Given the description of an element on the screen output the (x, y) to click on. 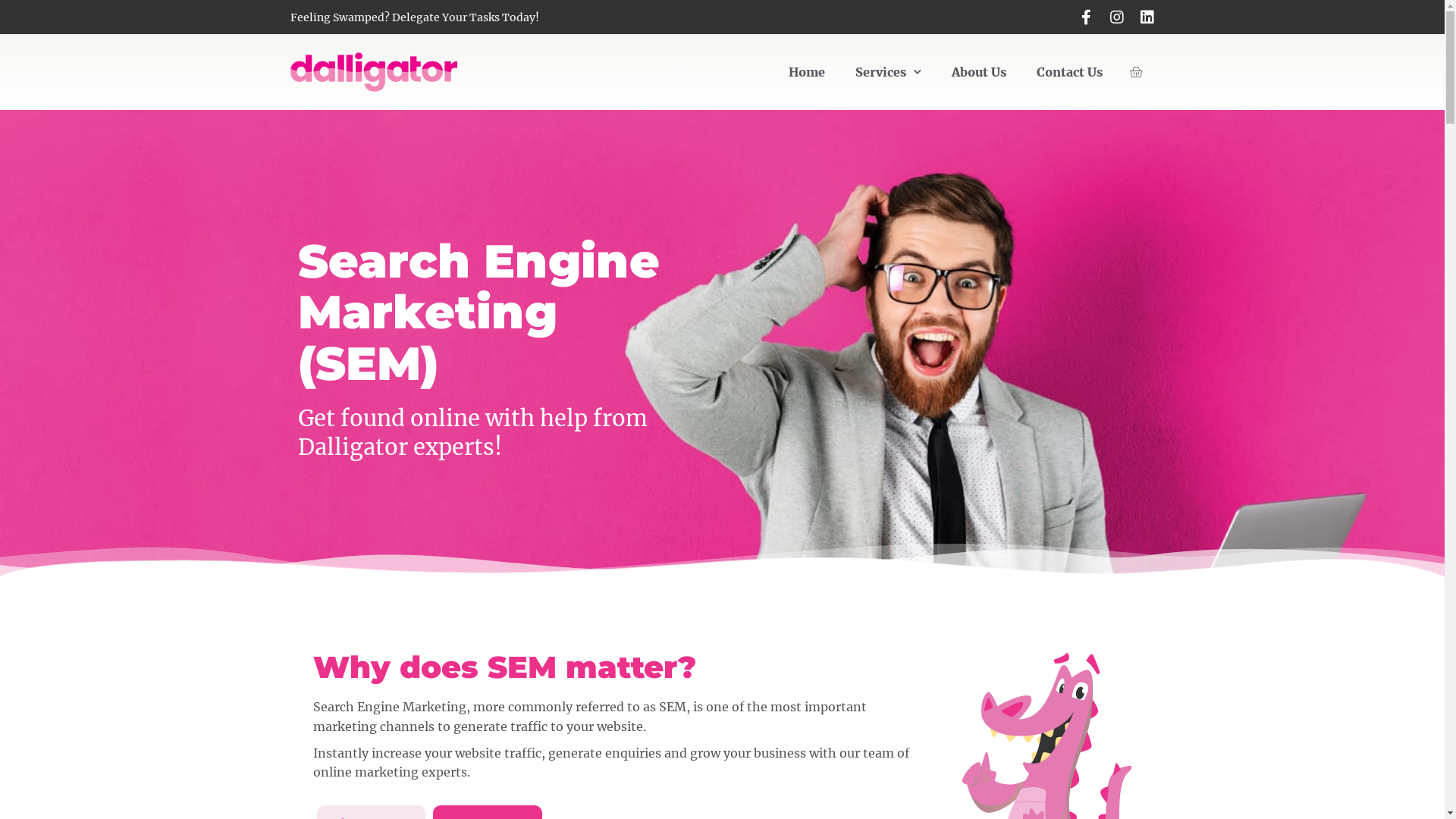
Services Element type: text (888, 71)
Home Element type: text (806, 71)
Contact Us Element type: text (1069, 71)
About Us Element type: text (978, 71)
